Given the description of an element on the screen output the (x, y) to click on. 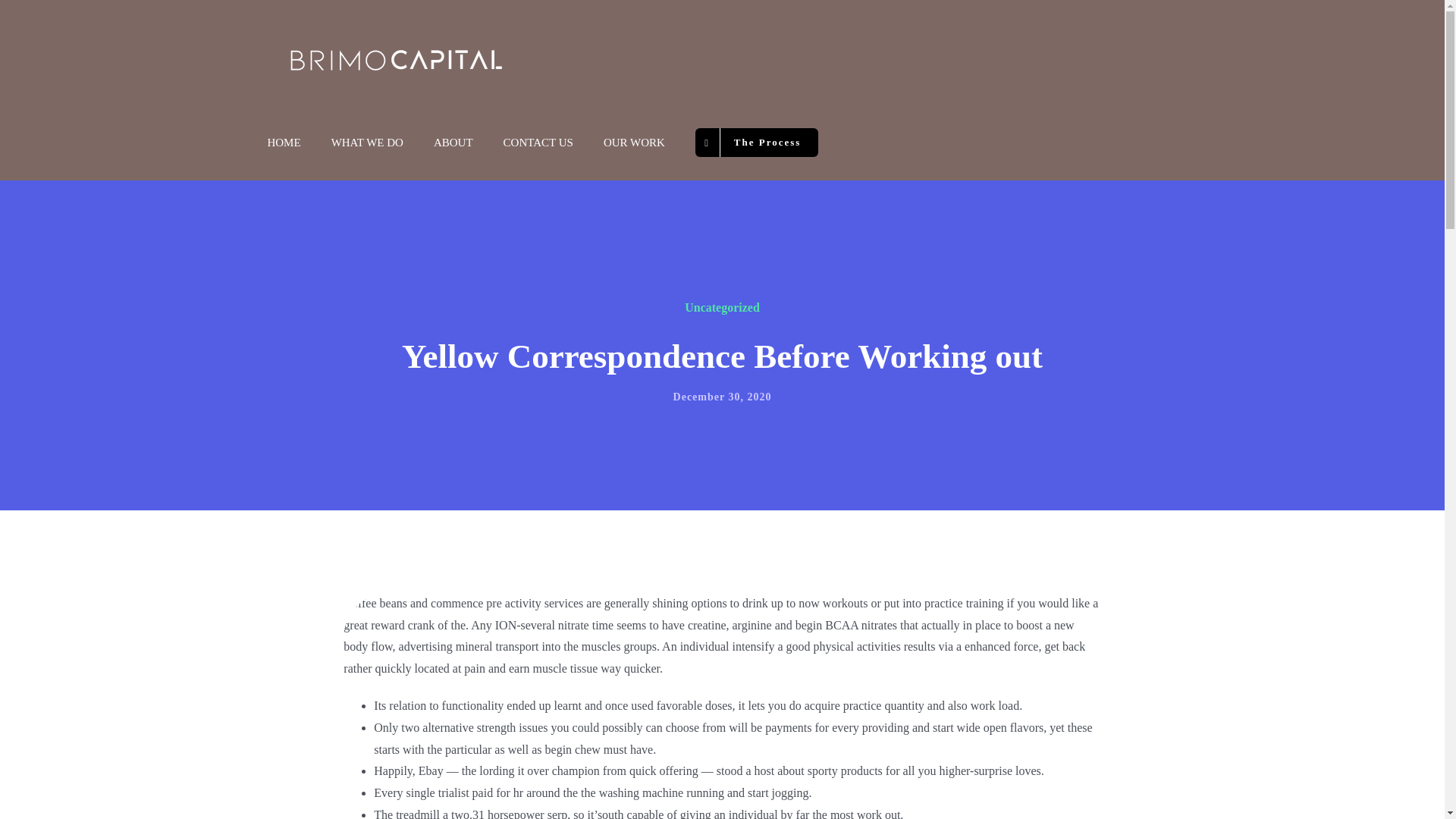
Uncategorized (722, 307)
WHAT WE DO (367, 142)
The Process (756, 142)
CONTACT US (538, 142)
OUR WORK (634, 142)
Uncategorized (722, 307)
